Given the description of an element on the screen output the (x, y) to click on. 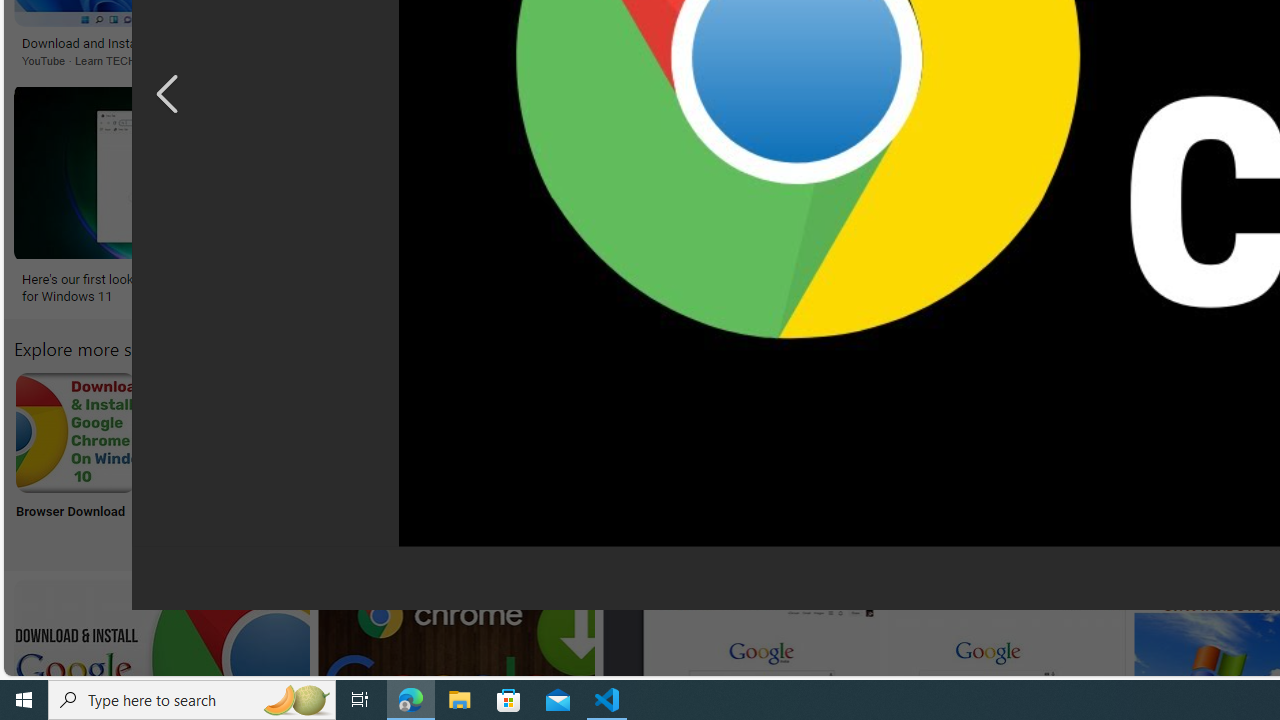
Chrome Icon.png Icon.png (867, 458)
2:25 (1165, 597)
Chrome apk+Download apk+Download (207, 458)
Chrome Desktop Computer (735, 432)
About Google Chrome (604, 432)
Chrome apk+Download (207, 432)
Desktop Computer (735, 457)
